Given the description of an element on the screen output the (x, y) to click on. 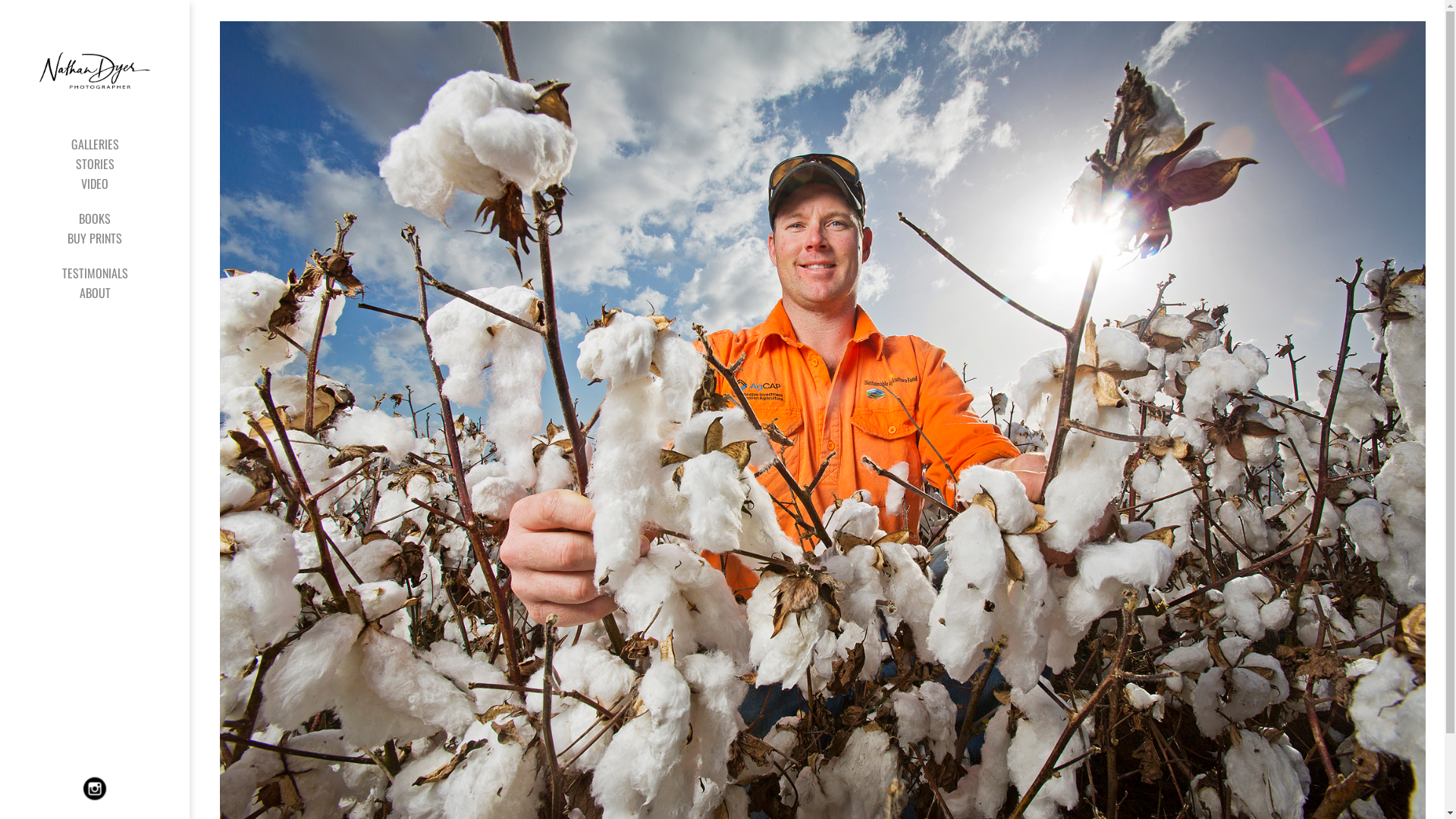
ABOUT Element type: text (94, 292)
TESTIMONIALS Element type: text (94, 272)
BOOKS Element type: text (94, 218)
Nathan Dyer Element type: hover (94, 66)
GALLERIES Element type: text (94, 143)
STORIES Element type: text (94, 163)
VIDEO Element type: text (94, 183)
BUY PRINTS Element type: text (94, 237)
Instagram: @nathandyerphoto Element type: text (94, 788)
